Given the description of an element on the screen output the (x, y) to click on. 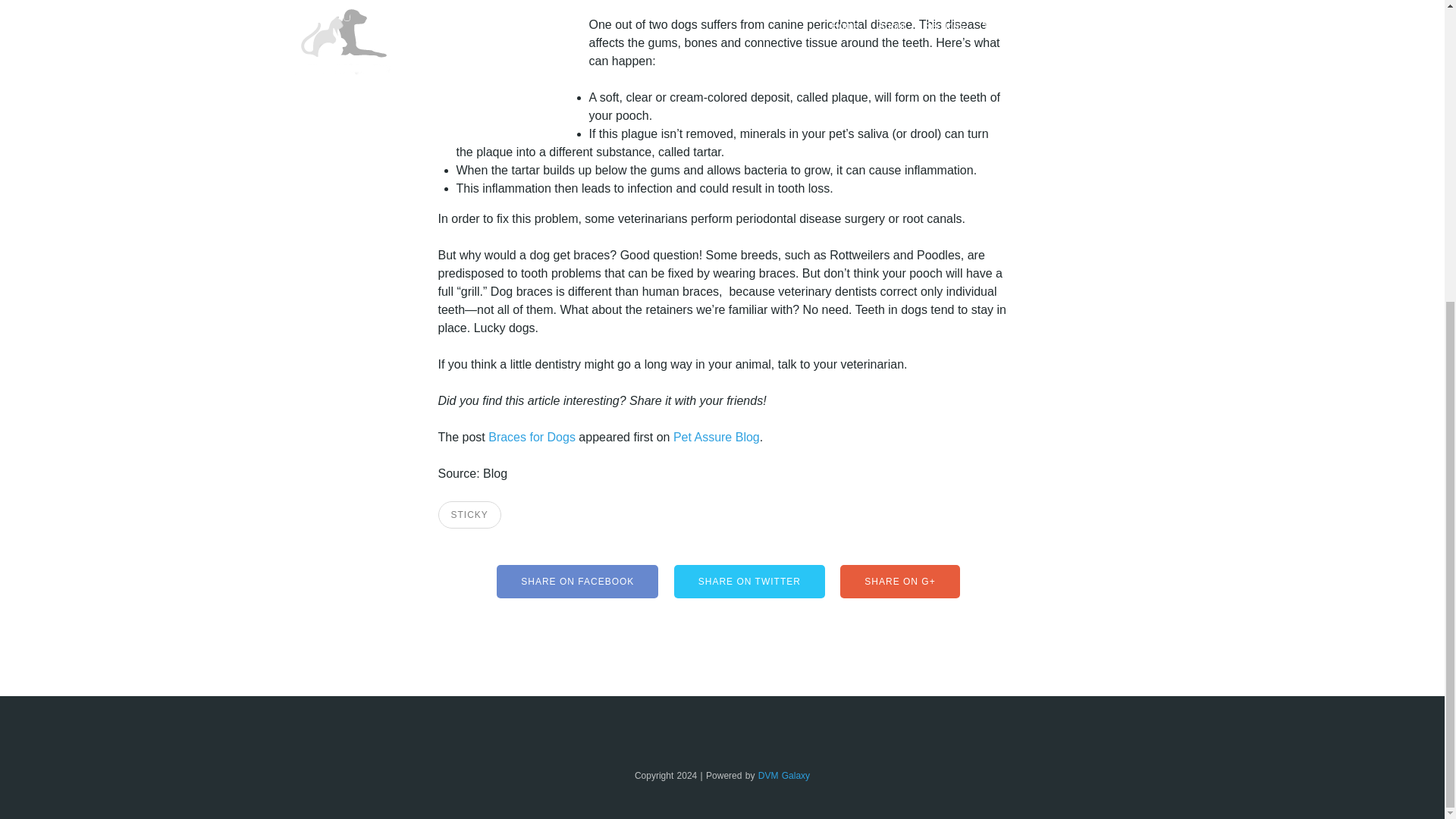
DVM Galaxy (783, 775)
Pet Assure Blog (716, 436)
STICKY (469, 514)
SHARE ON FACEBOOK (577, 581)
Rottweiler Mouth (513, 58)
Braces for Dogs (531, 436)
SHARE ON TWITTER (749, 581)
